Given the description of an element on the screen output the (x, y) to click on. 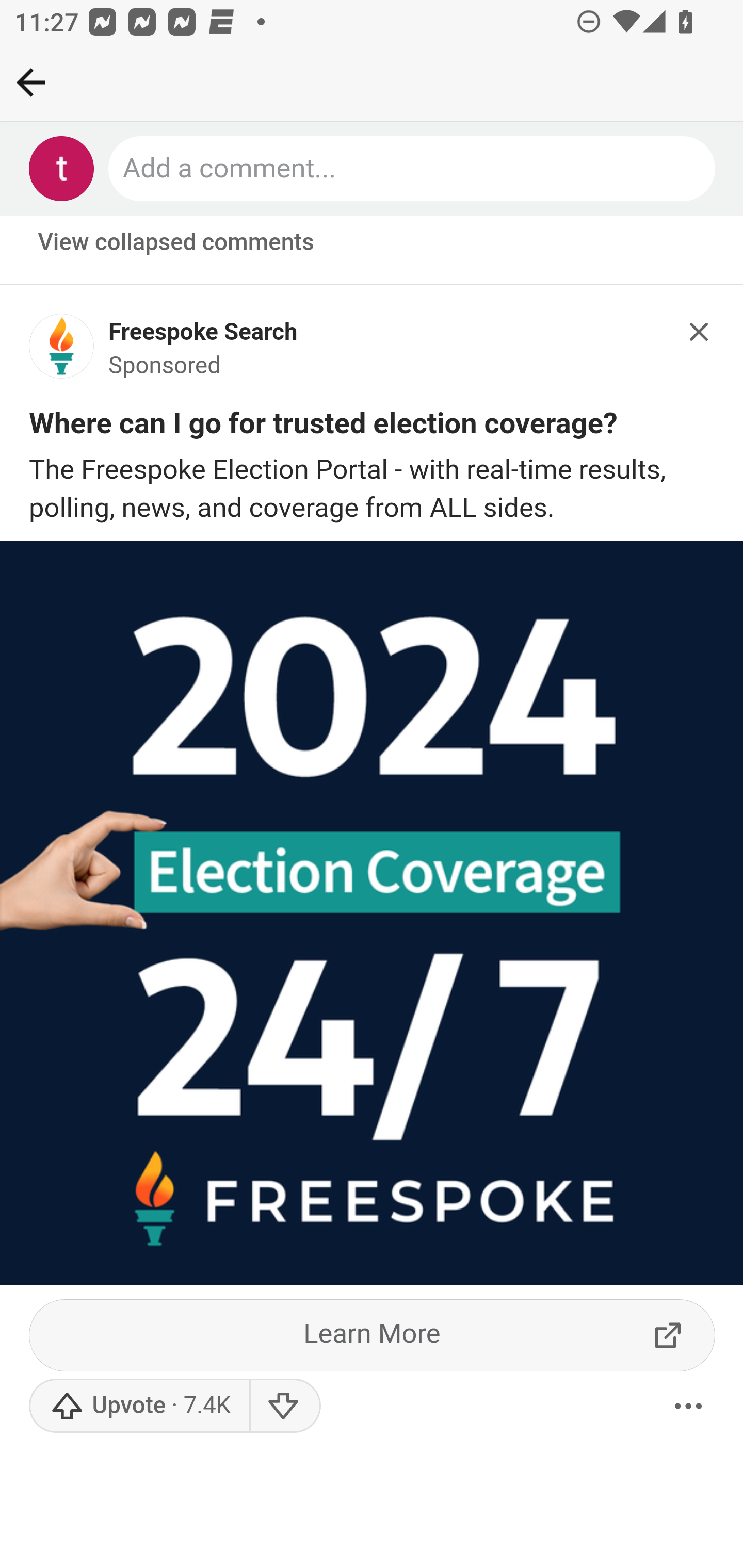
Back (30, 82)
Profile photo for Test Appium (61, 169)
Add a comment... (412, 169)
View collapsed comments (176, 243)
Hide (699, 332)
main-qimg-784c0b59c1772b60fd46a882711c92a8 (61, 352)
Freespoke Search (202, 333)
Sponsored (165, 368)
Where can I go for trusted election coverage? (323, 427)
Learn More ExternalLink (372, 1337)
Upvote (138, 1407)
Downvote (283, 1407)
More (688, 1407)
